Given the description of an element on the screen output the (x, y) to click on. 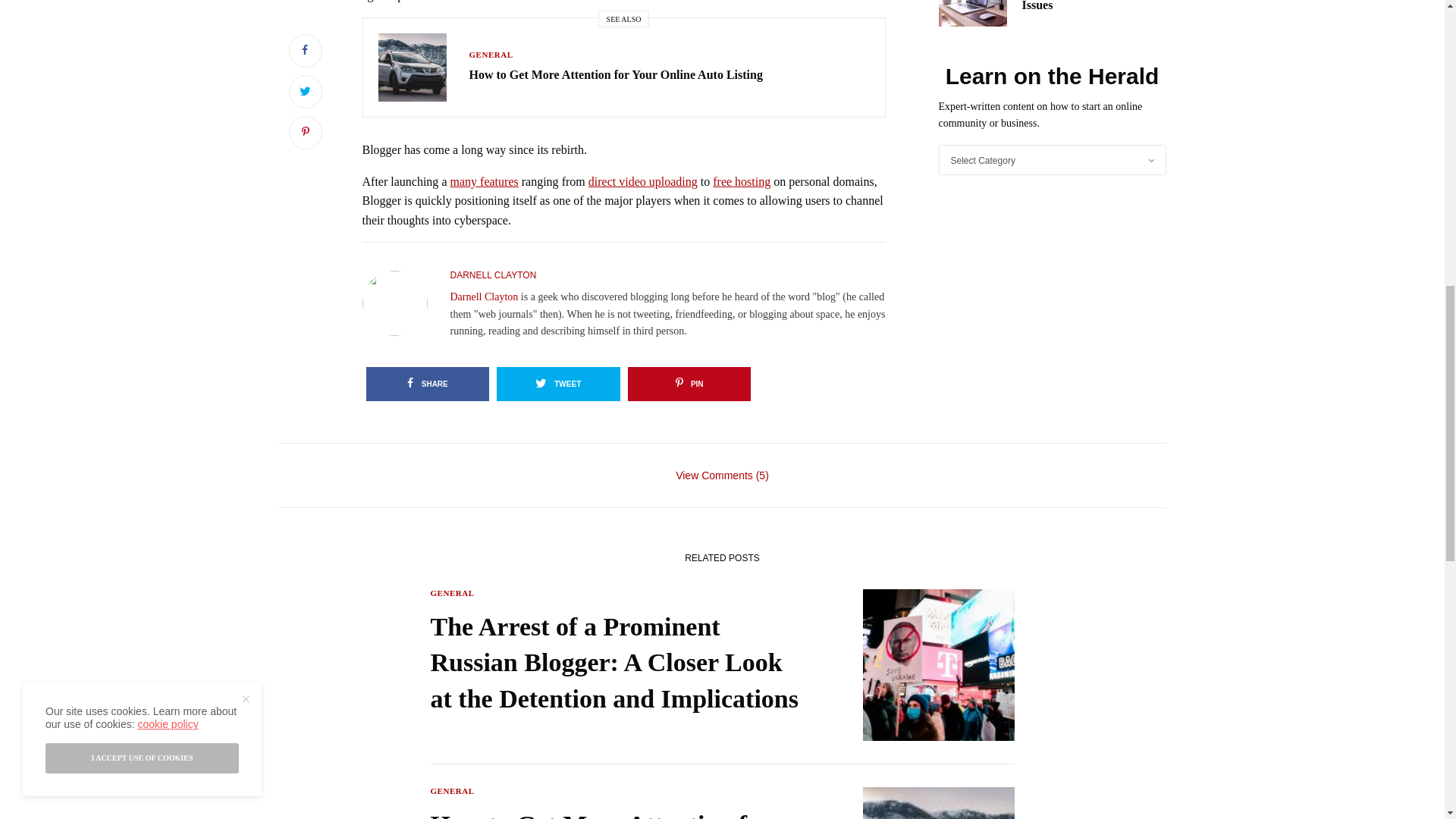
DARNELL CLAYTON (493, 275)
many features (483, 181)
direct video uploading (642, 181)
How to Get More Attention for Your Online Auto Listing (614, 74)
Darnell Clayton (483, 296)
Tips for a Smooth Website Transition: Avoiding SEO Issues (1094, 6)
free hosting (741, 181)
GENERAL (490, 53)
How to Get More Attention for Your Online Auto Listing (614, 74)
How to Get More Attention for Your Online Auto Listing (617, 812)
